Given the description of an element on the screen output the (x, y) to click on. 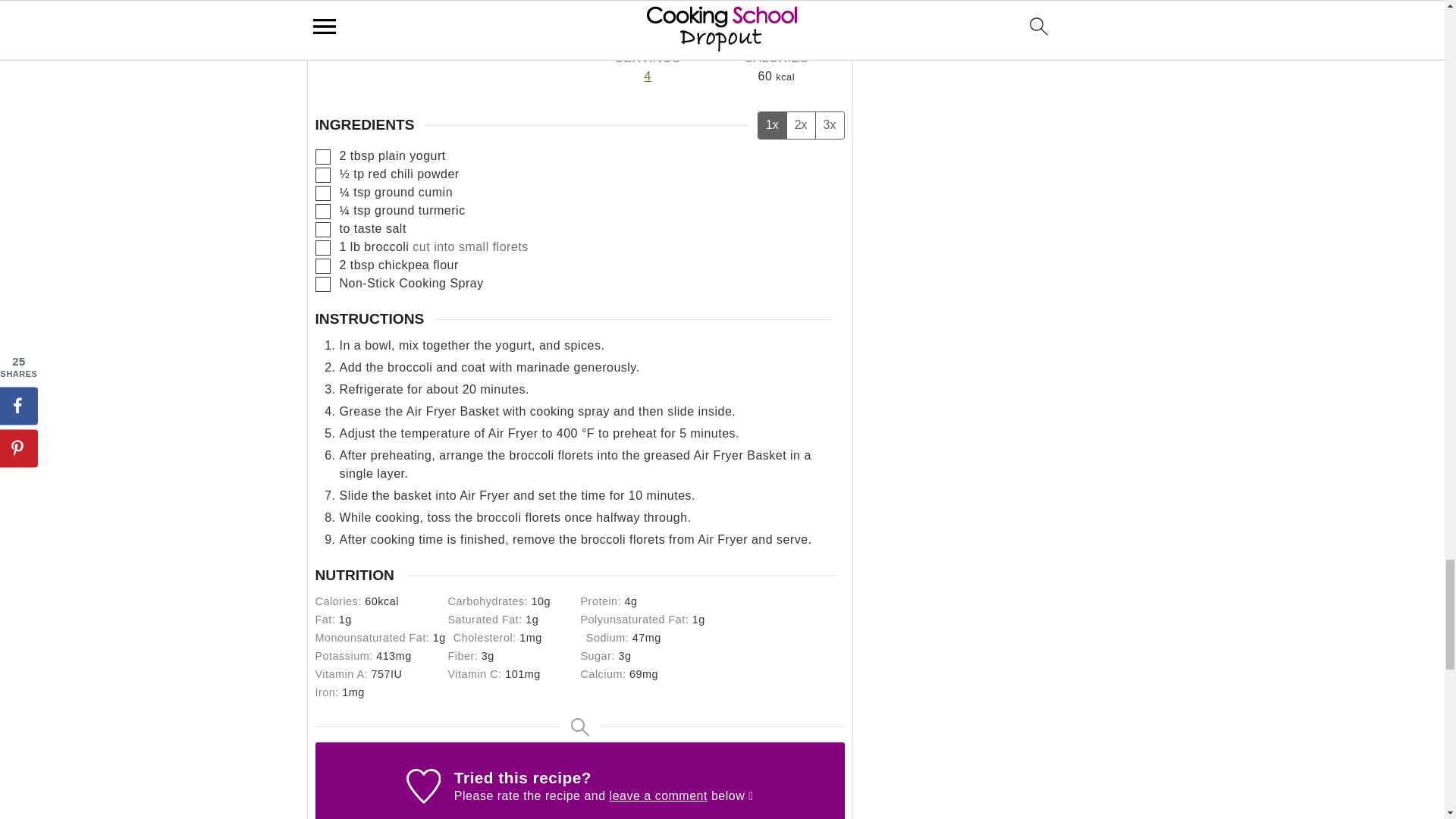
2x (800, 125)
4 (648, 76)
1x (772, 125)
